Given the description of an element on the screen output the (x, y) to click on. 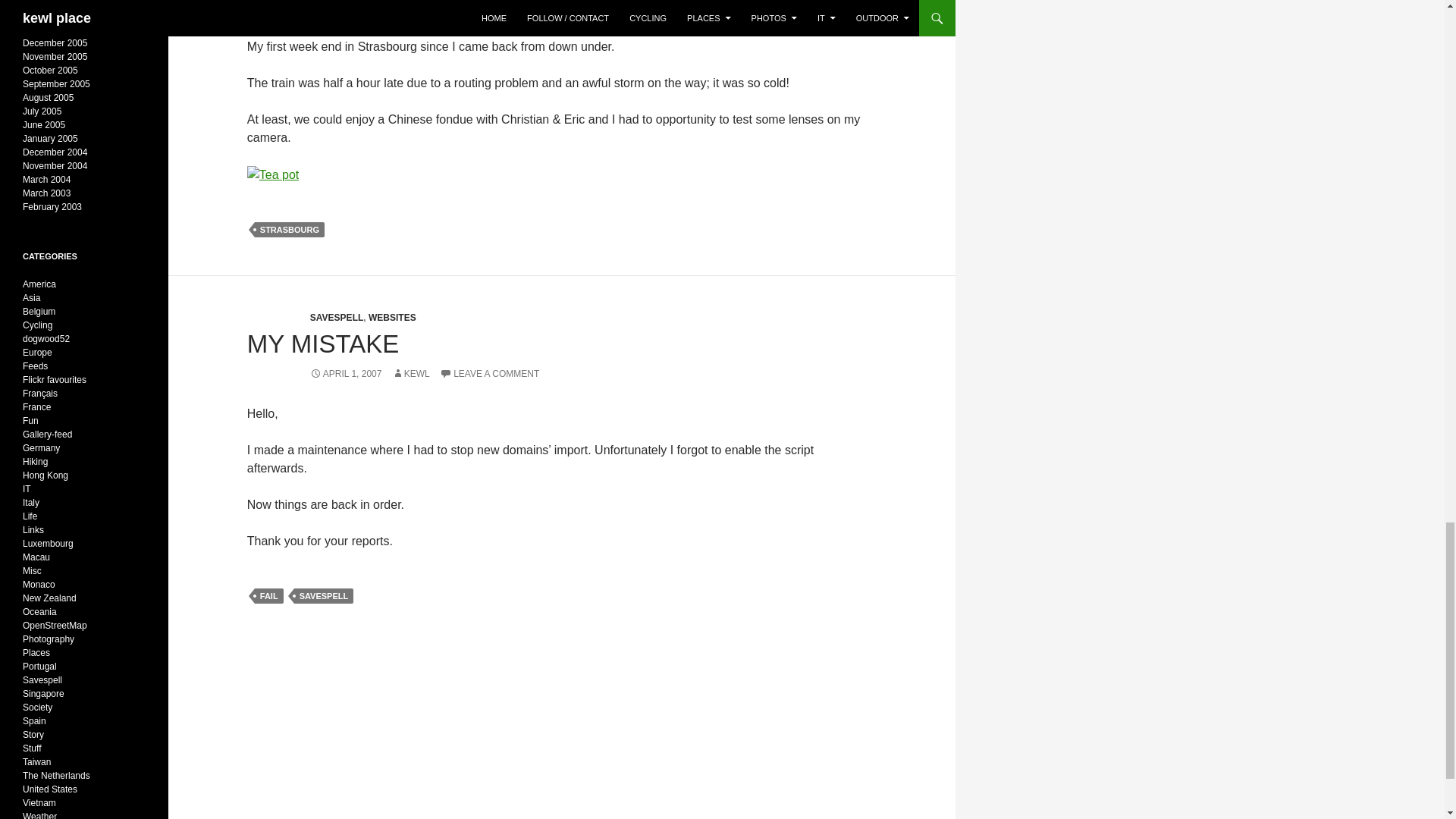
Tea pot taken with a macro lens (272, 175)
